Given the description of an element on the screen output the (x, y) to click on. 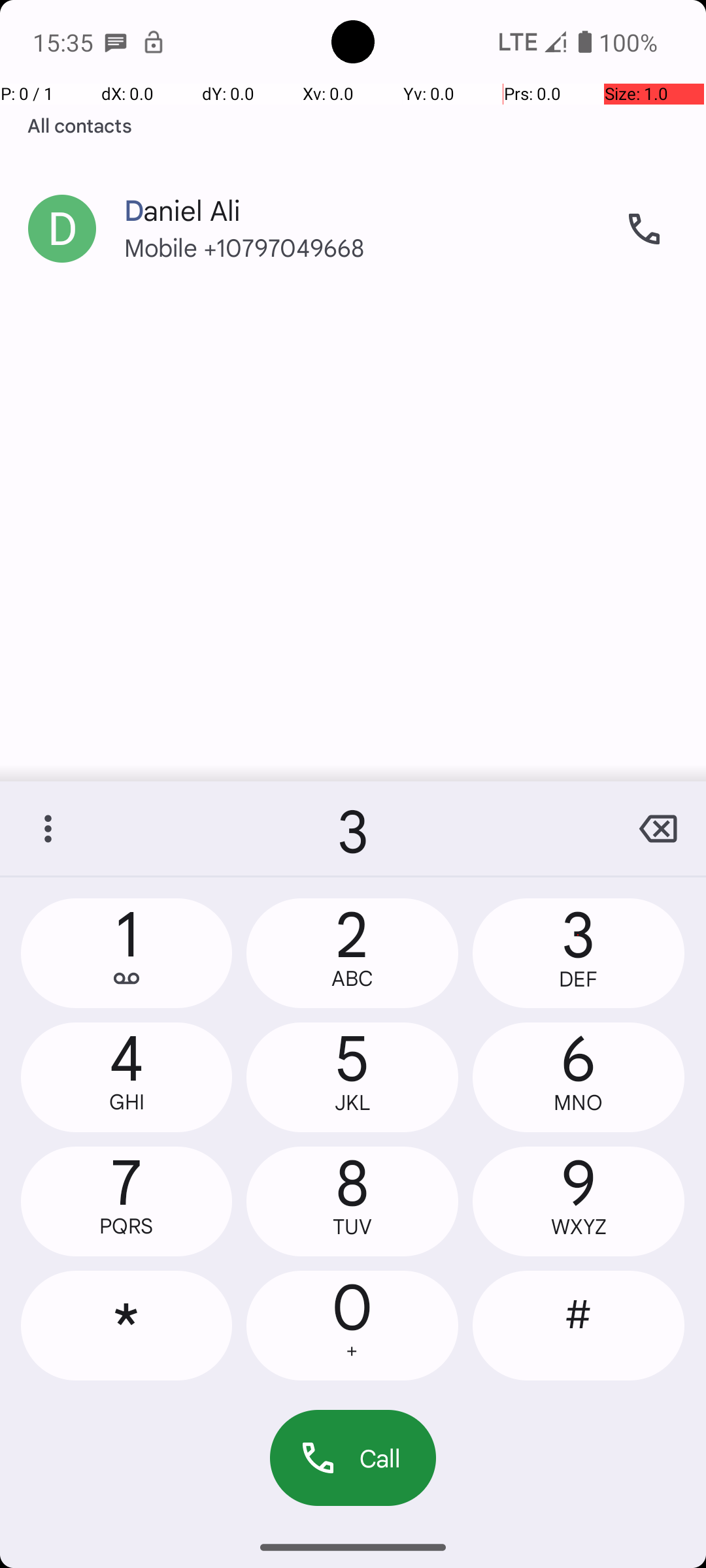
backspace Element type: android.widget.ImageButton (657, 828)
1, Element type: android.widget.FrameLayout (126, 953)
2,ABC Element type: android.widget.FrameLayout (352, 953)
3,DEF Element type: android.widget.FrameLayout (578, 953)
4,GHI Element type: android.widget.FrameLayout (126, 1077)
5,JKL Element type: android.widget.FrameLayout (352, 1077)
6,MNO Element type: android.widget.FrameLayout (578, 1077)
7,PQRS Element type: android.widget.FrameLayout (126, 1201)
8,TUV Element type: android.widget.FrameLayout (352, 1201)
9,WXYZ Element type: android.widget.FrameLayout (578, 1201)
* Element type: android.widget.FrameLayout (126, 1325)
ABC Element type: android.widget.TextView (351, 978)
DEF Element type: android.widget.TextView (578, 978)
GHI Element type: android.widget.TextView (126, 1101)
JKL Element type: android.widget.TextView (351, 1102)
MNO Element type: android.widget.TextView (578, 1102)
PQRS Element type: android.widget.TextView (126, 1225)
TUV Element type: android.widget.TextView (351, 1226)
WXYZ Element type: android.widget.TextView (578, 1226)
+ Element type: android.widget.TextView (351, 1351)
All contacts Element type: android.widget.TextView (79, 124)
Quick contact for Daniel Ali Element type: android.widget.QuickContactBadge (62, 228)
Daniel Ali Element type: android.widget.TextView (360, 197)
Mobile ‪+10797049668‬ Element type: android.widget.TextView (360, 260)
Tasks notification: Connection security Element type: android.widget.ImageView (153, 41)
